Given the description of an element on the screen output the (x, y) to click on. 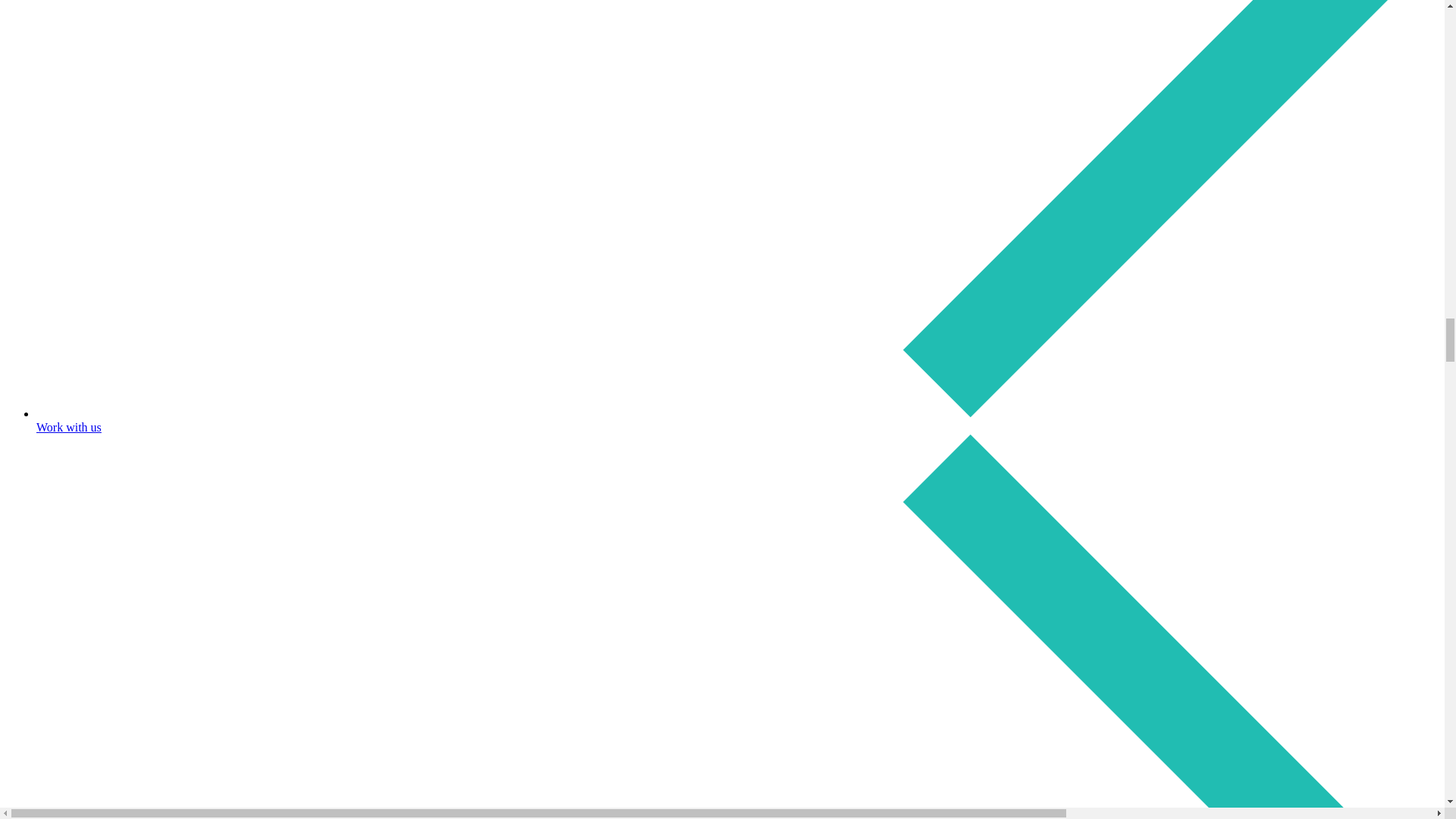
Work with us (737, 420)
